Given the description of an element on the screen output the (x, y) to click on. 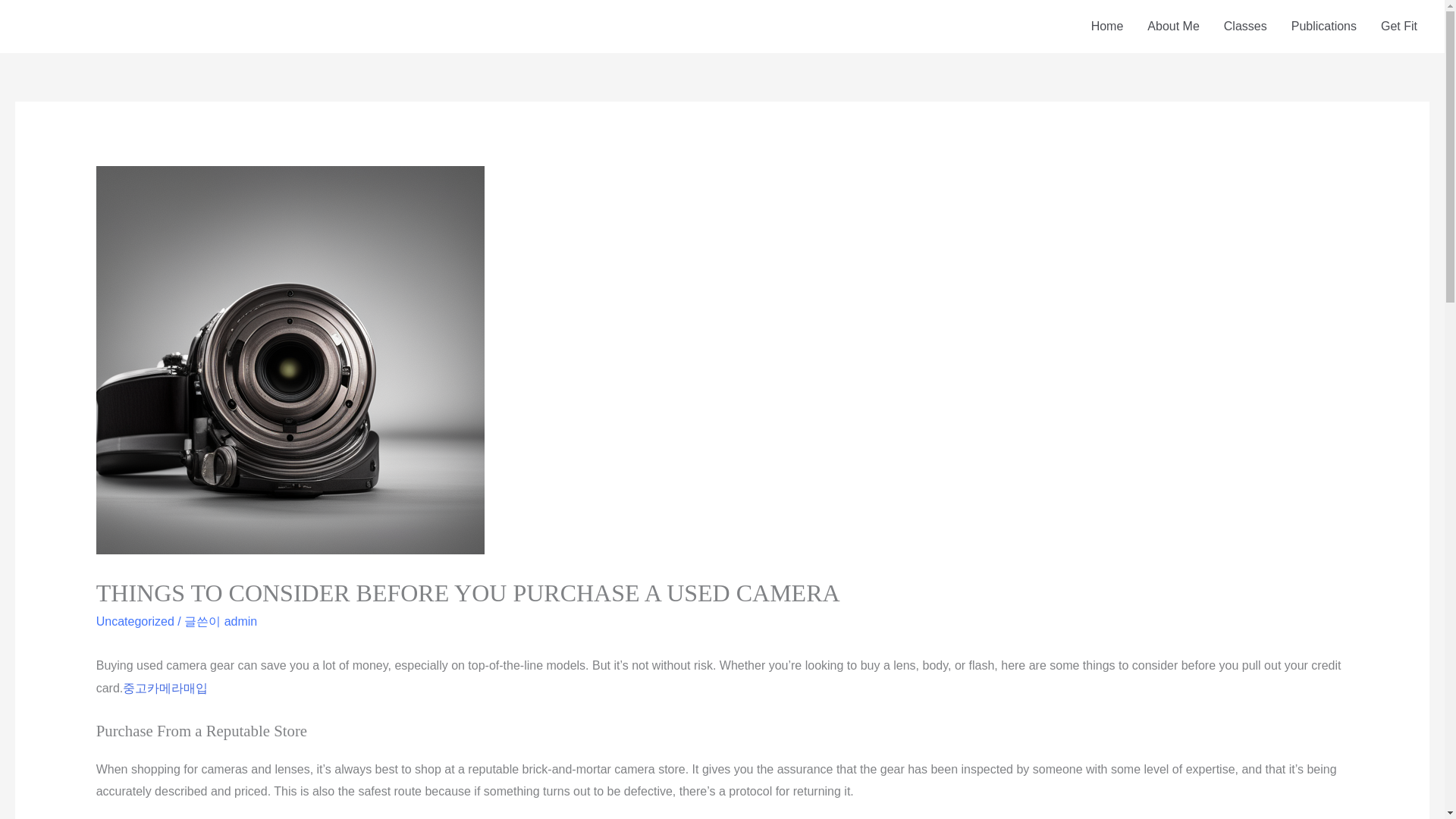
Get Fit (1398, 26)
About Me (1173, 26)
Uncategorized (135, 621)
admin (240, 621)
Publications (1323, 26)
Classes (1245, 26)
Home (1106, 26)
